Given the description of an element on the screen output the (x, y) to click on. 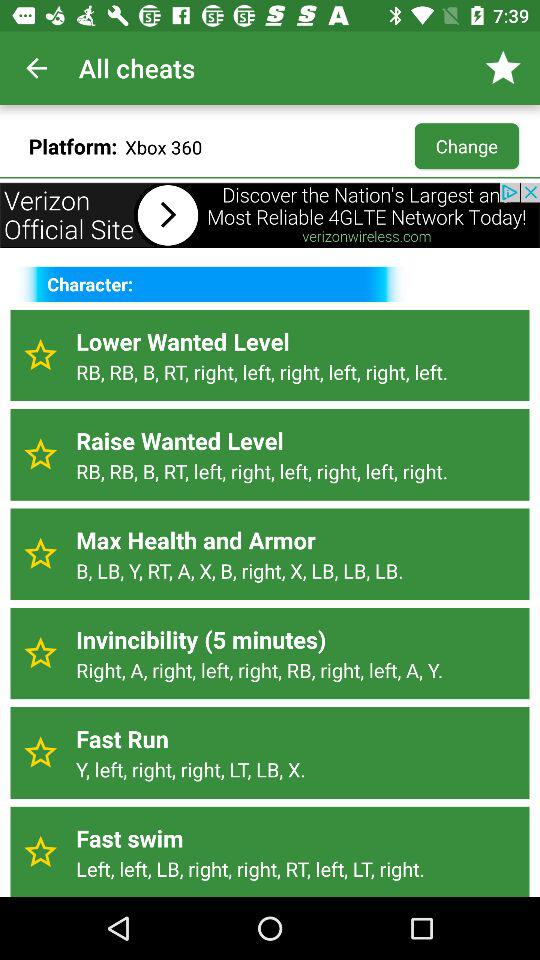
favorite cheat (40, 454)
